Given the description of an element on the screen output the (x, y) to click on. 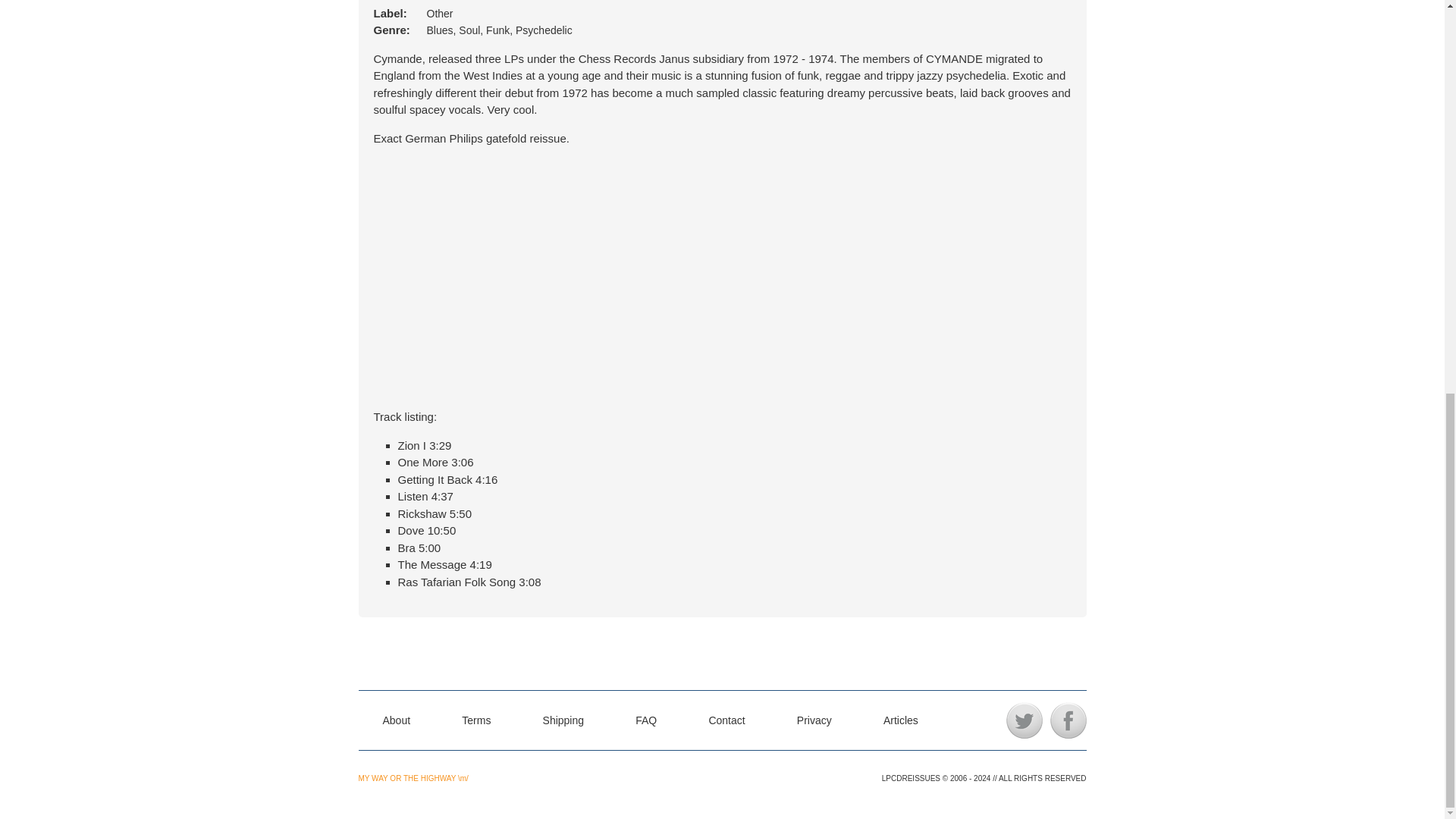
Shipping (564, 719)
Privacy (813, 719)
Contact (725, 719)
Articles (900, 719)
